Given the description of an element on the screen output the (x, y) to click on. 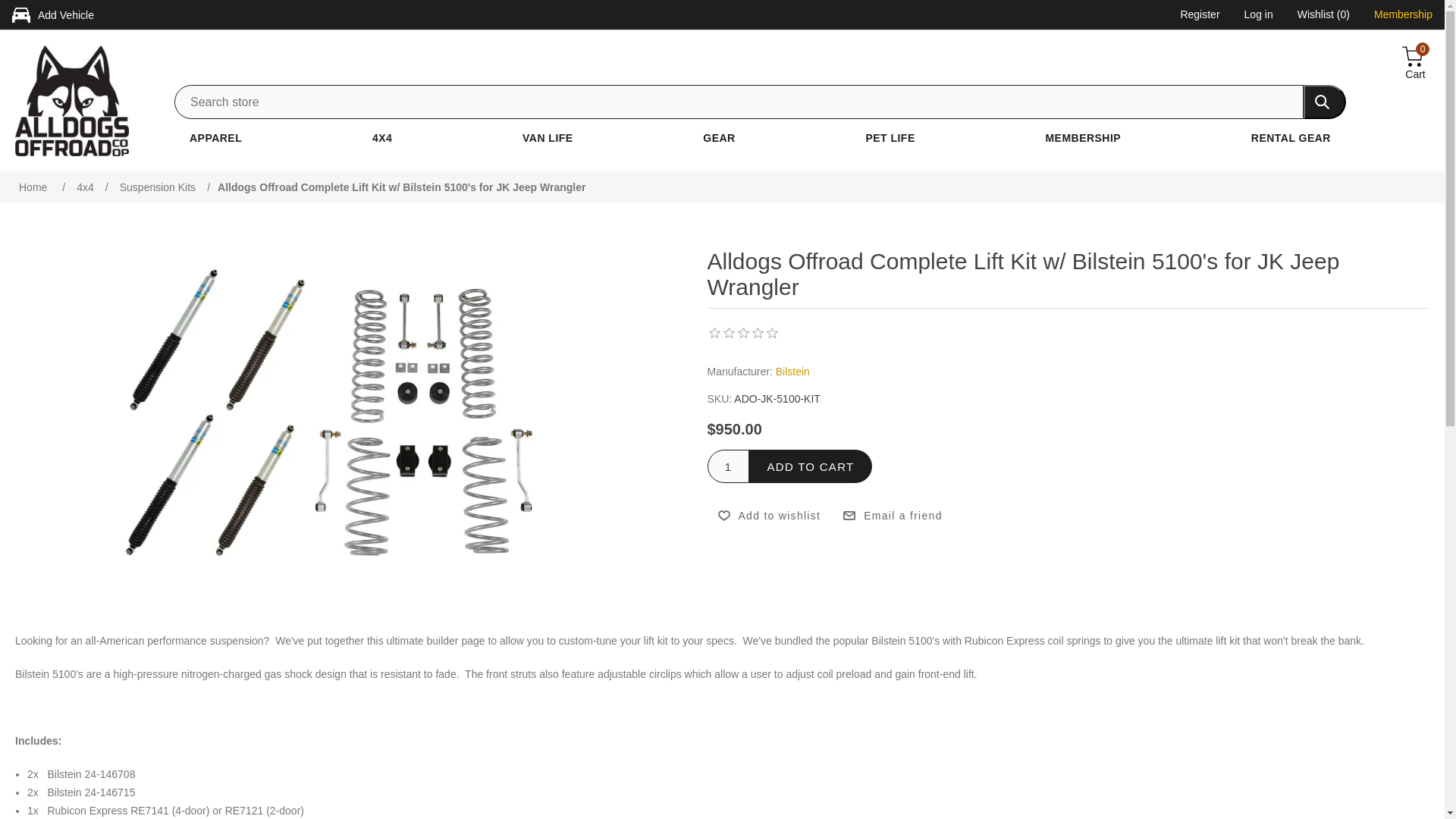
Search (1324, 101)
Search (1324, 101)
GEAR (719, 137)
APPAREL (215, 137)
Search (1324, 101)
4X4 (381, 137)
VAN LIFE (547, 137)
Log in (1258, 15)
RENTAL GEAR (1290, 137)
Membership (1403, 15)
